Given the description of an element on the screen output the (x, y) to click on. 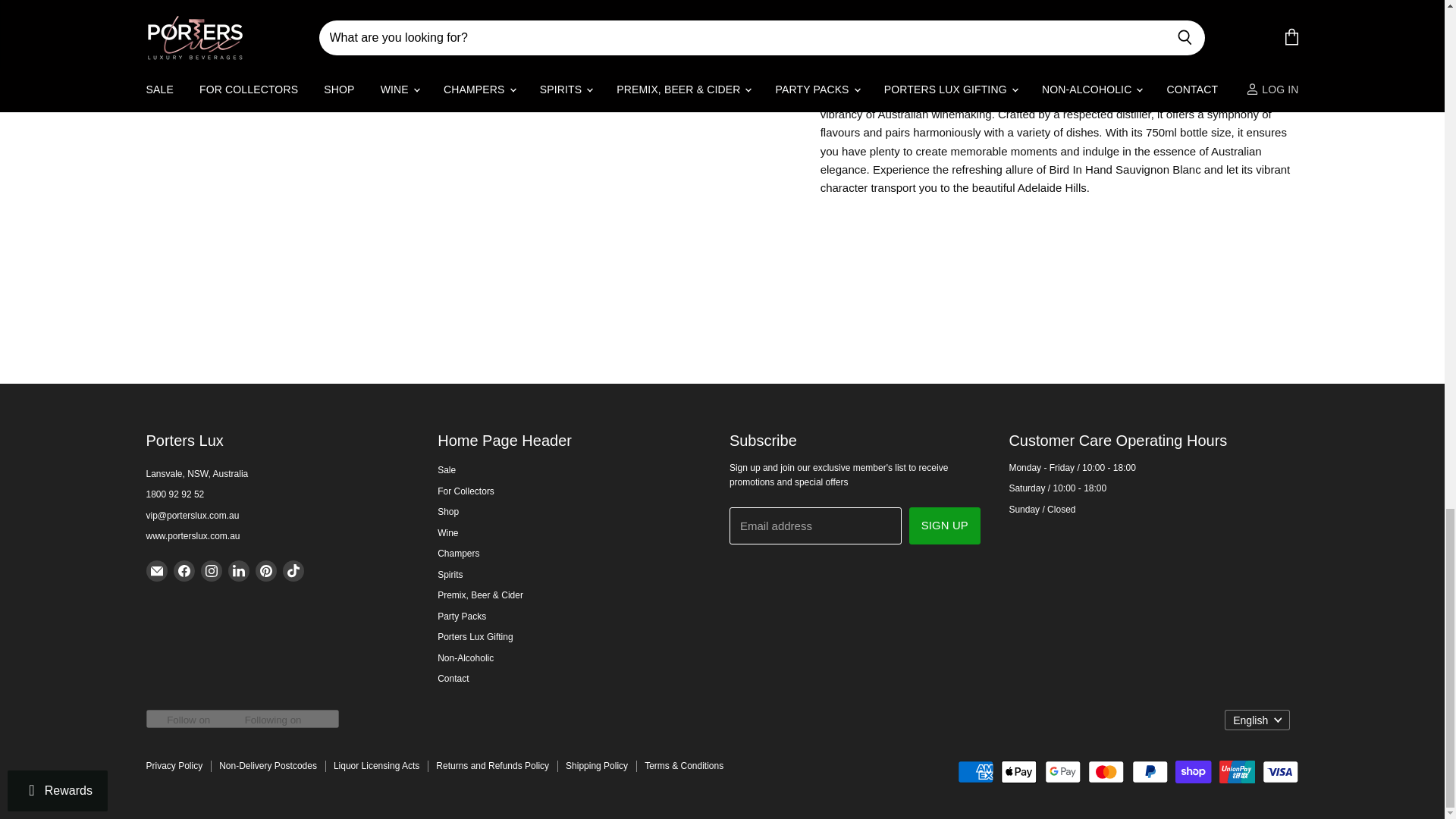
Instagram (210, 570)
Pinterest (265, 570)
LinkedIn (237, 570)
E-mail (156, 570)
Facebook (183, 570)
www.porterslux.com.au (192, 535)
Email (191, 515)
TikTok (292, 570)
